Given the description of an element on the screen output the (x, y) to click on. 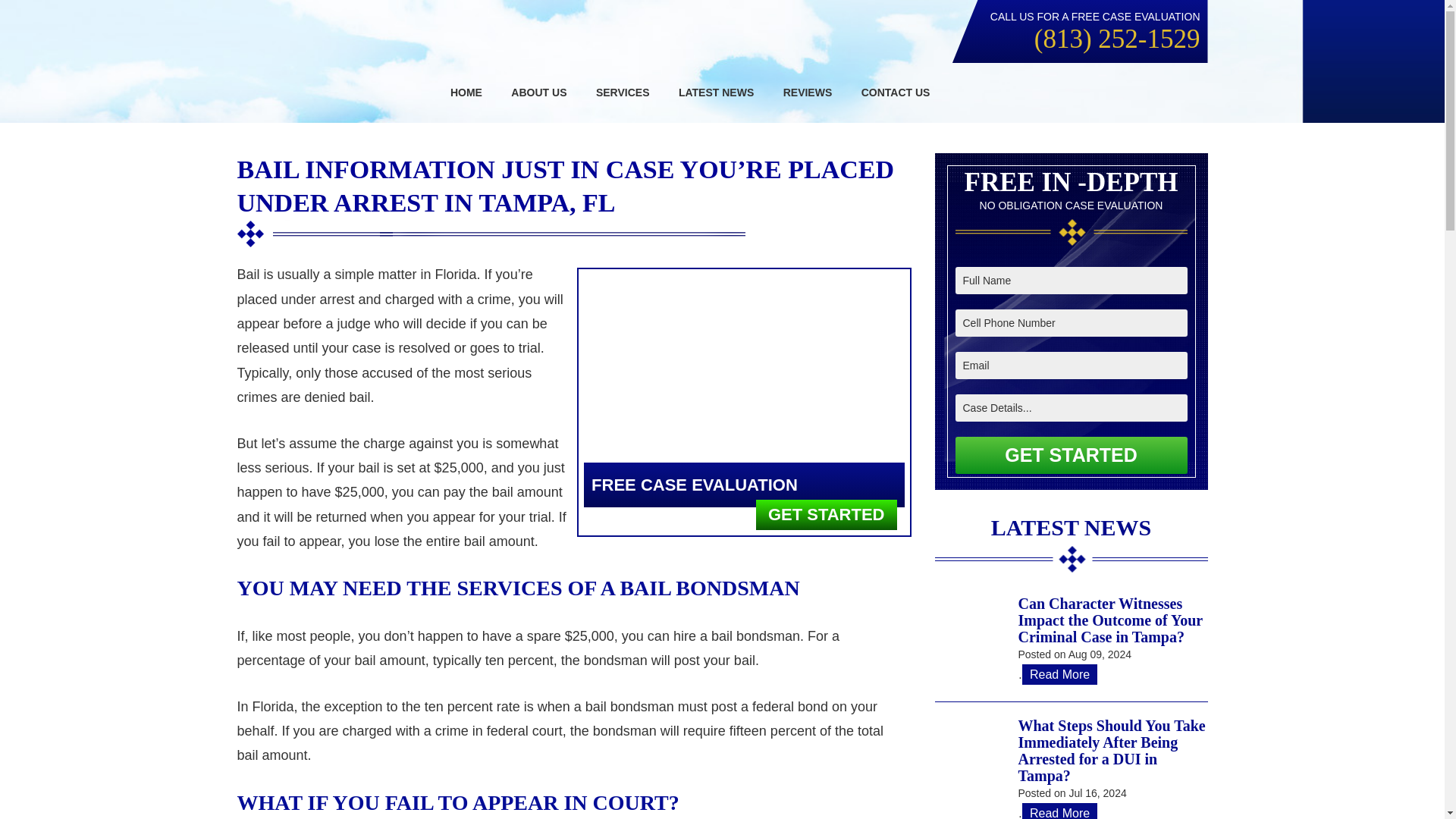
GET STARTED (825, 514)
Get Started (1071, 455)
SERVICES (622, 92)
LATEST NEWS (716, 92)
CONTACT US (895, 92)
REVIEWS (807, 92)
ABOUT US (538, 92)
Get Started (1071, 455)
